Given the description of an element on the screen output the (x, y) to click on. 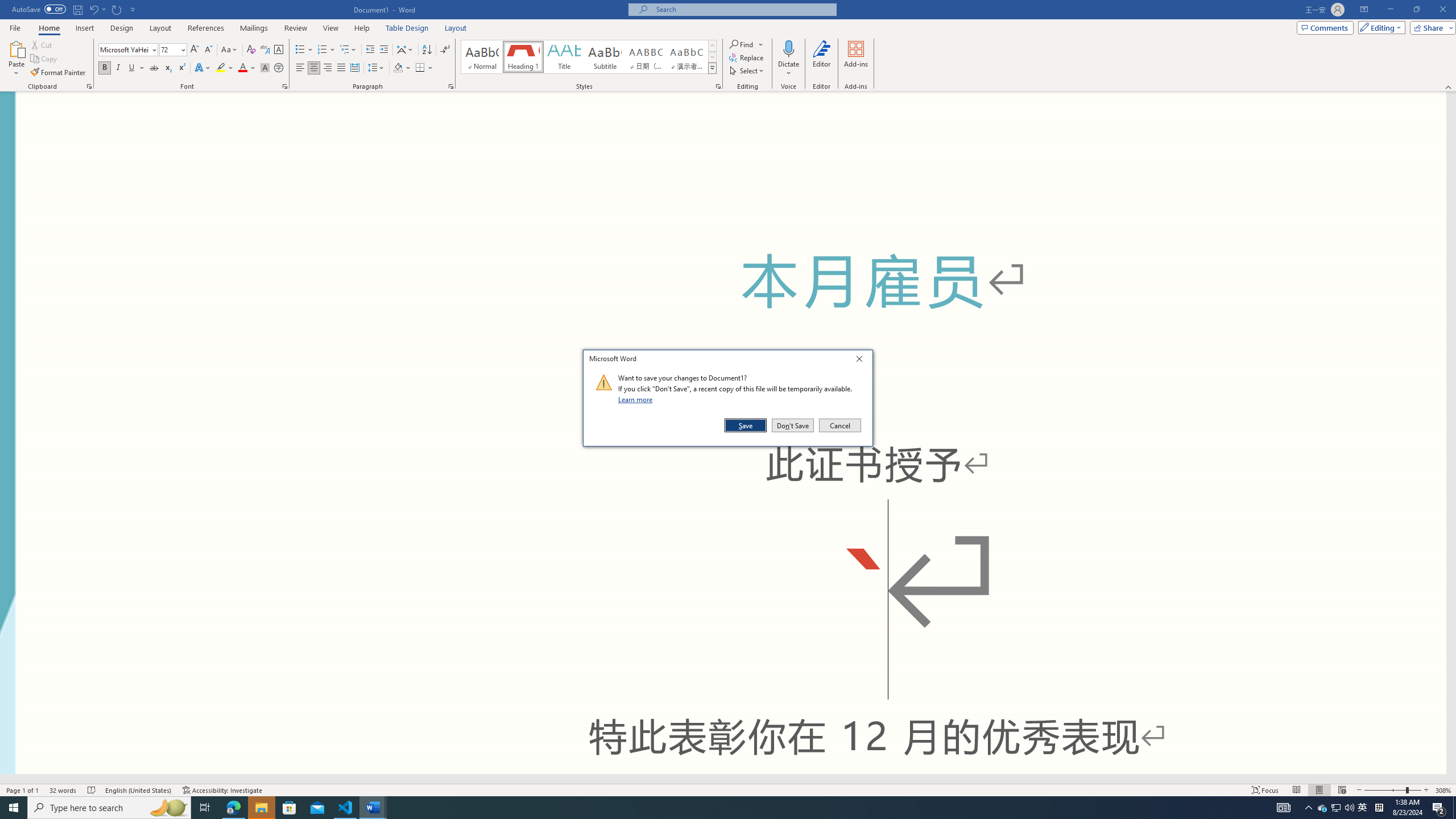
Subtitle (605, 56)
Italic (118, 67)
Asian Layout (405, 49)
Page Number Page 1 of 1 (22, 790)
Editing (1379, 27)
Align Right (327, 67)
Zoom 308% (1443, 790)
Align Left (300, 67)
